Given the description of an element on the screen output the (x, y) to click on. 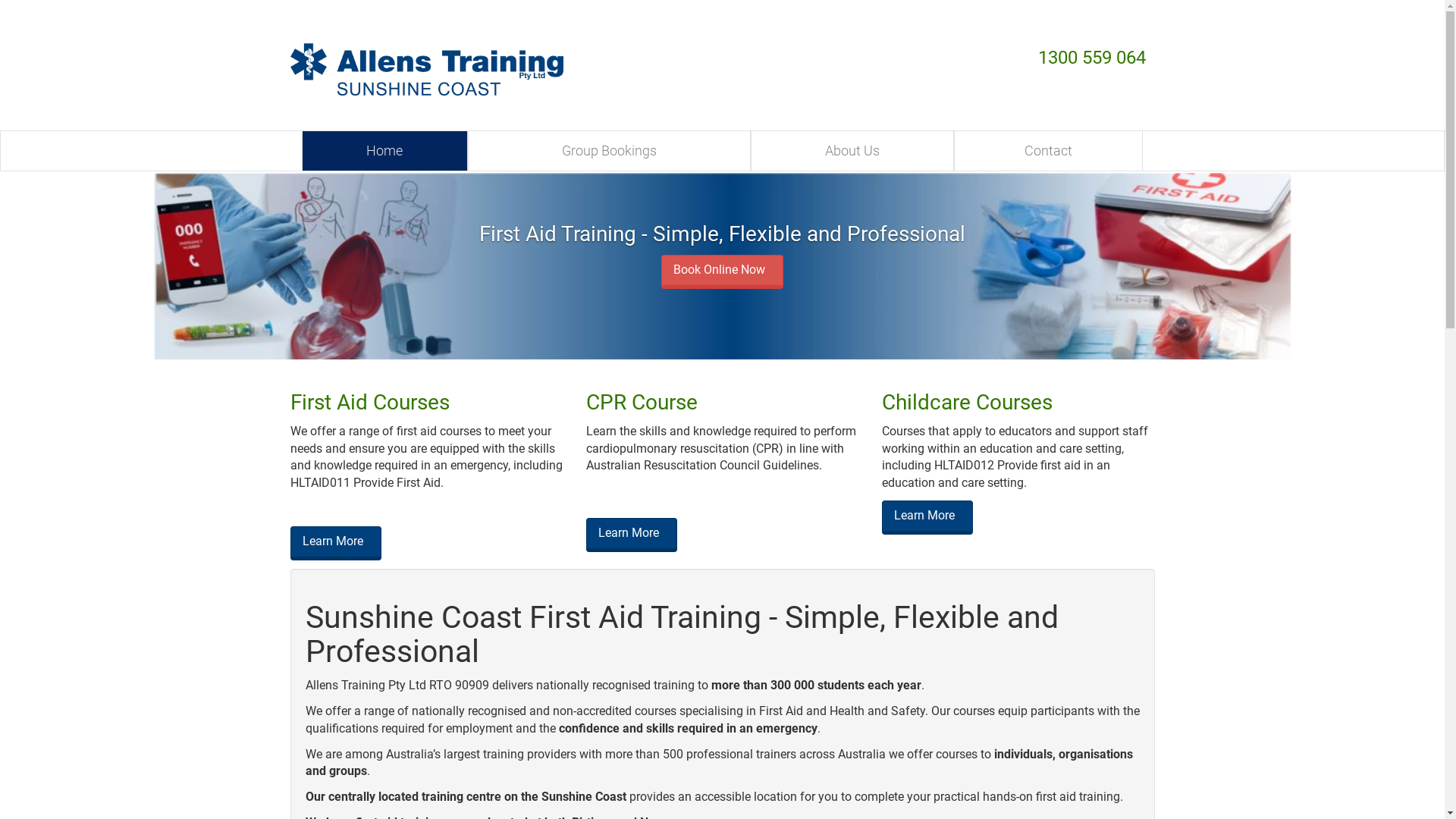
First Aid Courses Element type: text (368, 401)
Childcare Courses Element type: text (966, 401)
Contact Element type: text (1048, 150)
Learn More   Element type: text (630, 534)
CPR Course Element type: text (640, 401)
Learn More   Element type: text (334, 543)
About Us Element type: text (852, 150)
1300 559 064 Element type: text (1093, 57)
Group Bookings Element type: text (608, 150)
Learn More   Element type: text (926, 517)
Home Element type: text (384, 150)
Book Online Now   Element type: text (722, 271)
